Given the description of an element on the screen output the (x, y) to click on. 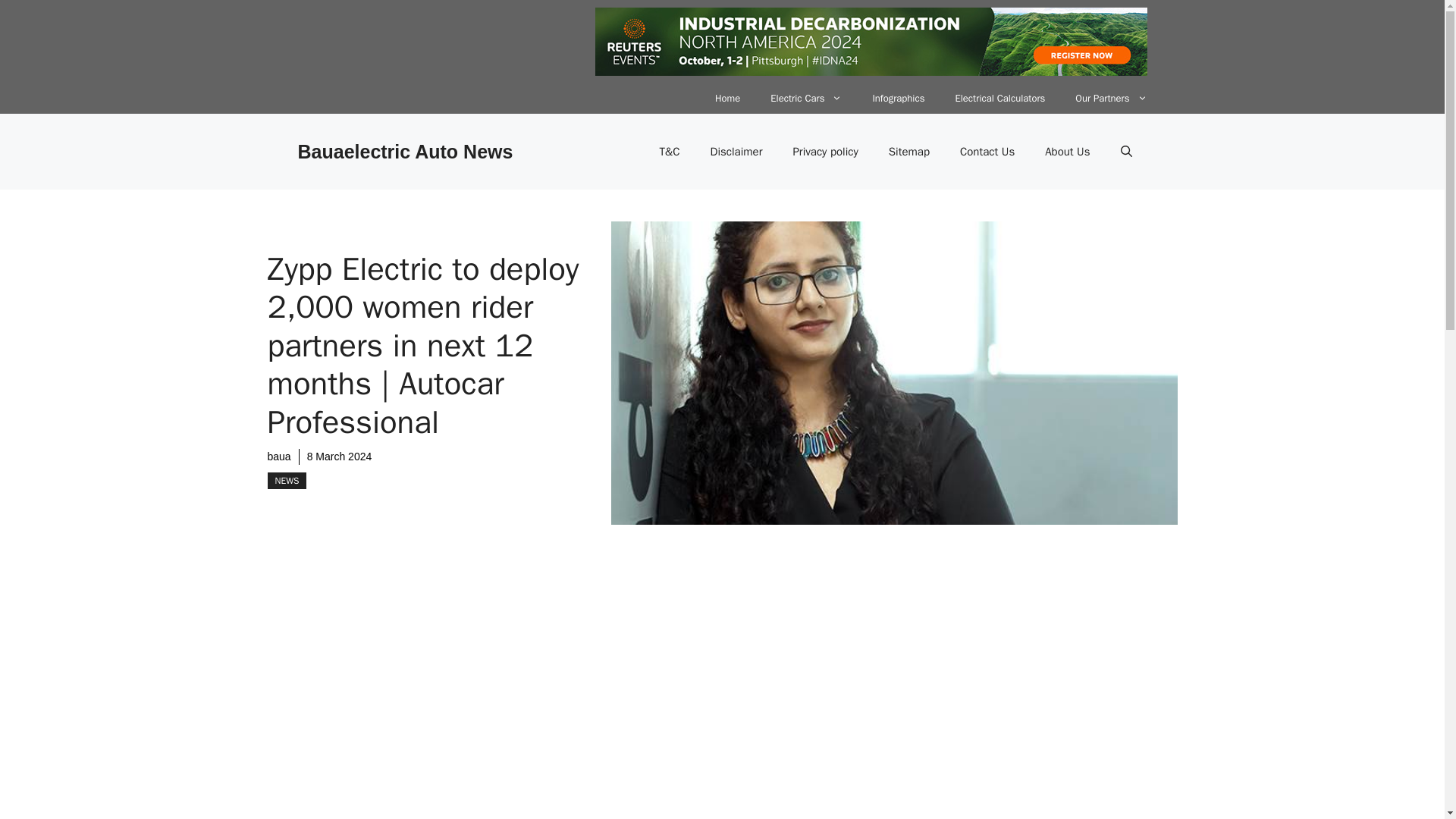
Advertisement (600, 707)
Advertisement (1027, 718)
Bauaelectric Auto News (404, 151)
Privacy policy (824, 151)
Sitemap (908, 151)
Infographics (898, 98)
Electric Cars (806, 98)
Electrical Calculators (999, 98)
Our Partners (1110, 98)
Disclaimer (736, 151)
Home (727, 98)
